Given the description of an element on the screen output the (x, y) to click on. 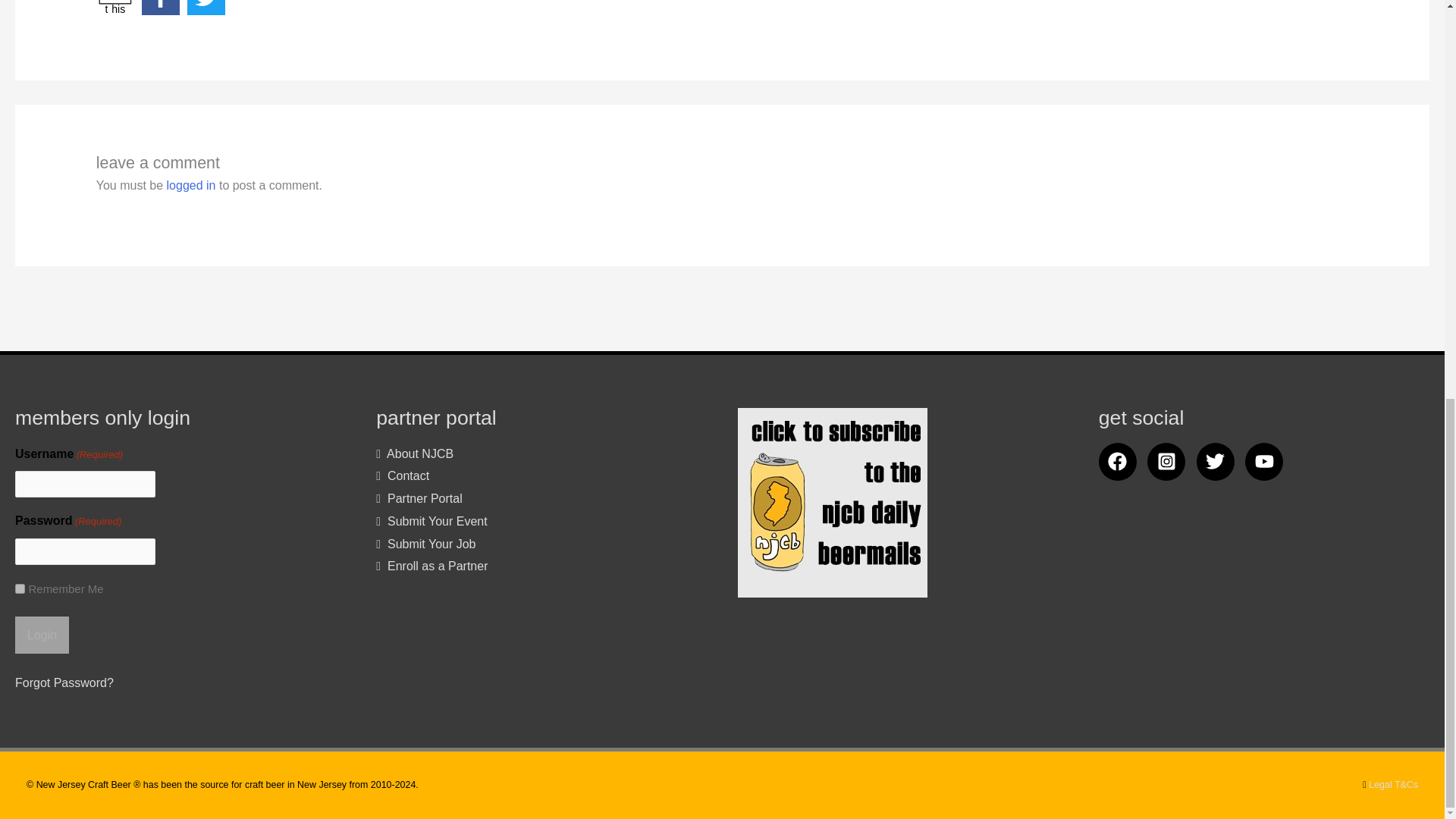
Login (41, 634)
1 (19, 588)
